Given the description of an element on the screen output the (x, y) to click on. 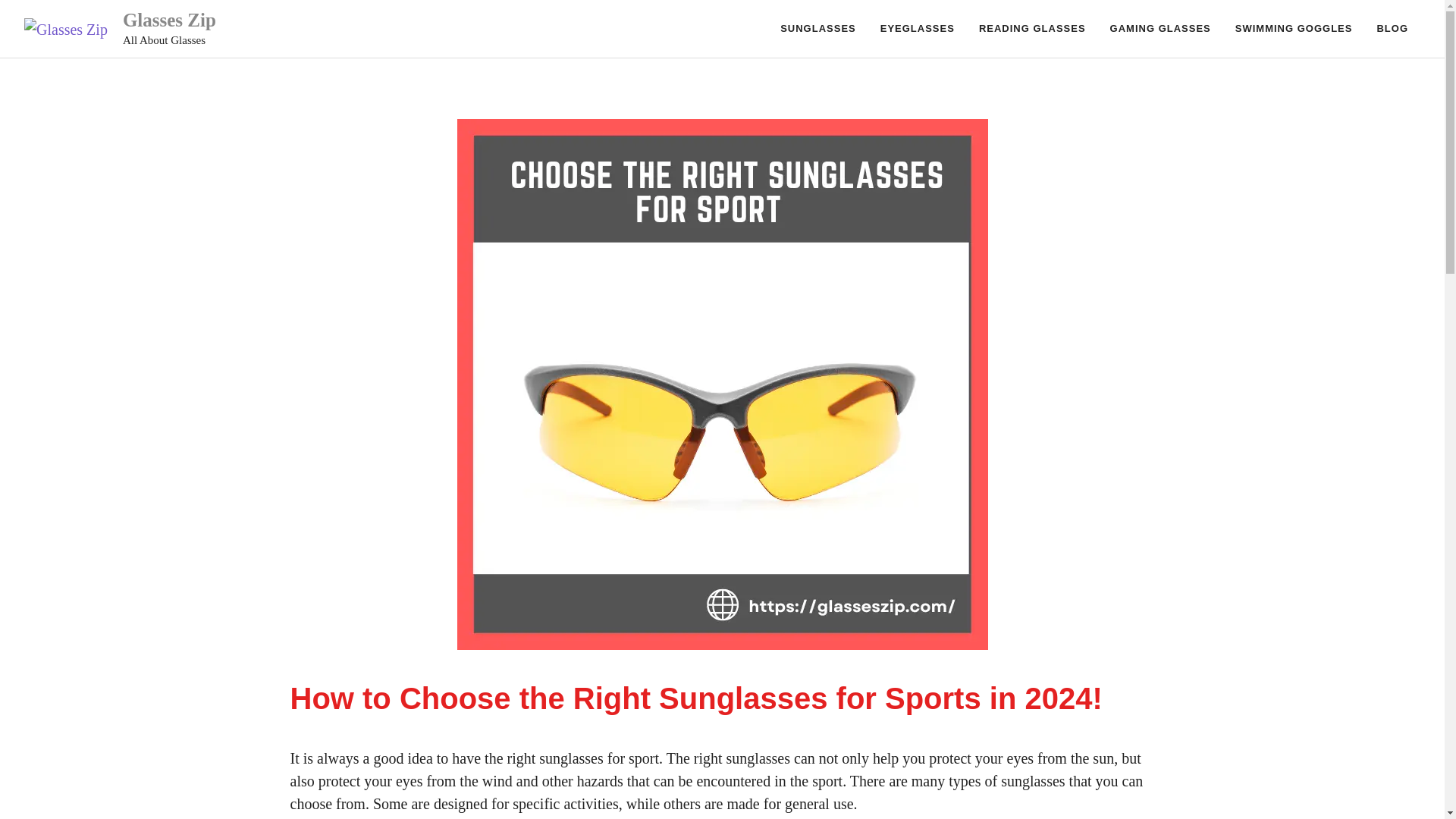
GAMING GLASSES (1160, 28)
Glasses Zip (168, 19)
EYEGLASSES (916, 28)
SUNGLASSES (817, 28)
SWIMMING GOGGLES (1294, 28)
BLOG (1392, 28)
READING GLASSES (1031, 28)
